Given the description of an element on the screen output the (x, y) to click on. 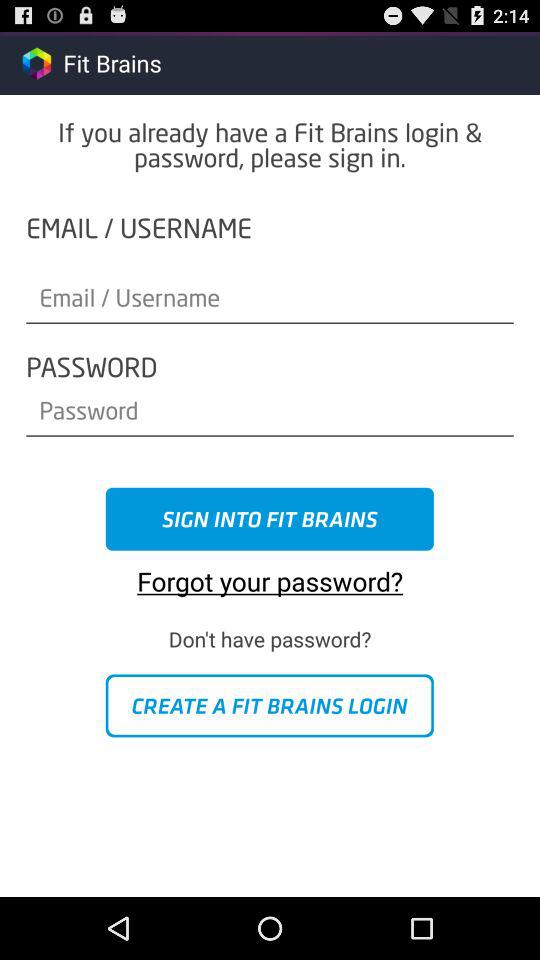
open icon below the sign into fit (270, 574)
